Given the description of an element on the screen output the (x, y) to click on. 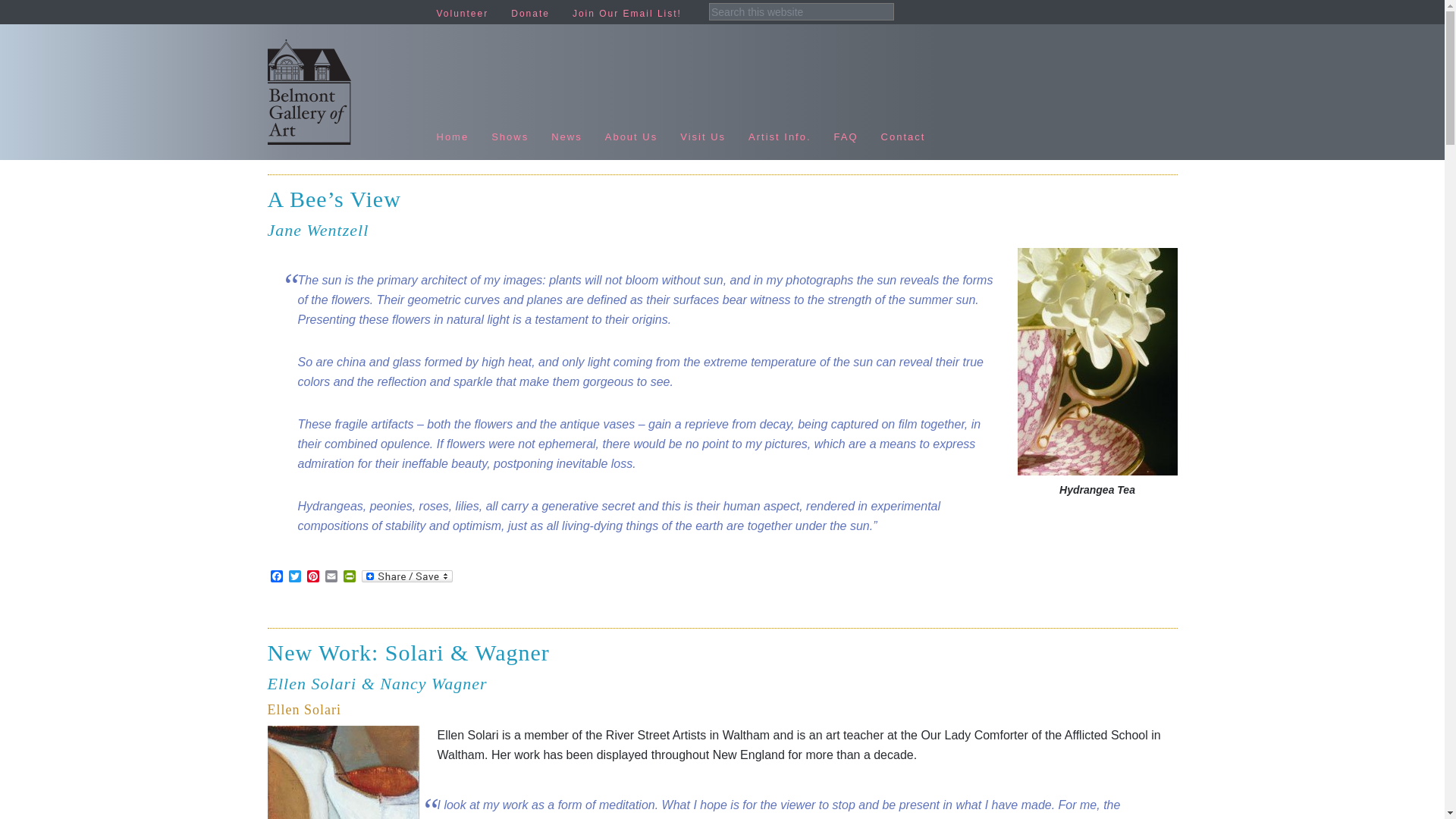
Email (330, 577)
Shows (510, 127)
PrintFriendly (348, 577)
Facebook (275, 577)
Belmont Gallery of Art (345, 91)
About Us (631, 127)
FAQ (845, 127)
